Given the description of an element on the screen output the (x, y) to click on. 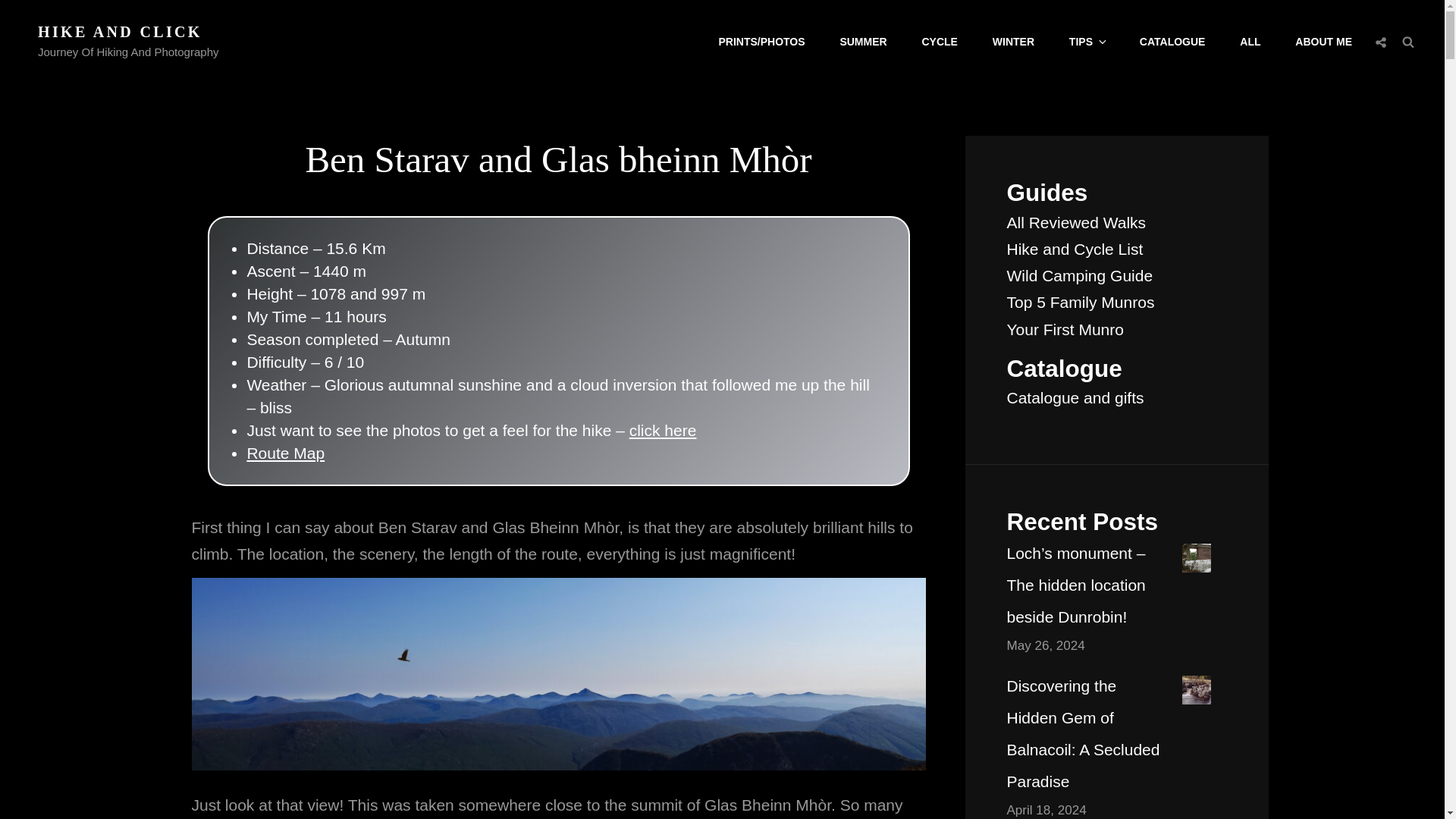
CATALOGUE (1172, 41)
SUMMER (862, 41)
CYCLE (939, 41)
WINTER (1012, 41)
TIPS (1086, 41)
Wild Camping Guide (1080, 275)
click here (662, 429)
Social Share (1380, 42)
Route Map (285, 452)
HIKE AND CLICK (119, 31)
Hike and Cycle List (1074, 248)
All Reviewed Walks (1077, 221)
ALL (1249, 41)
Top 5 Family Munros (1080, 302)
Search (1408, 41)
